Given the description of an element on the screen output the (x, y) to click on. 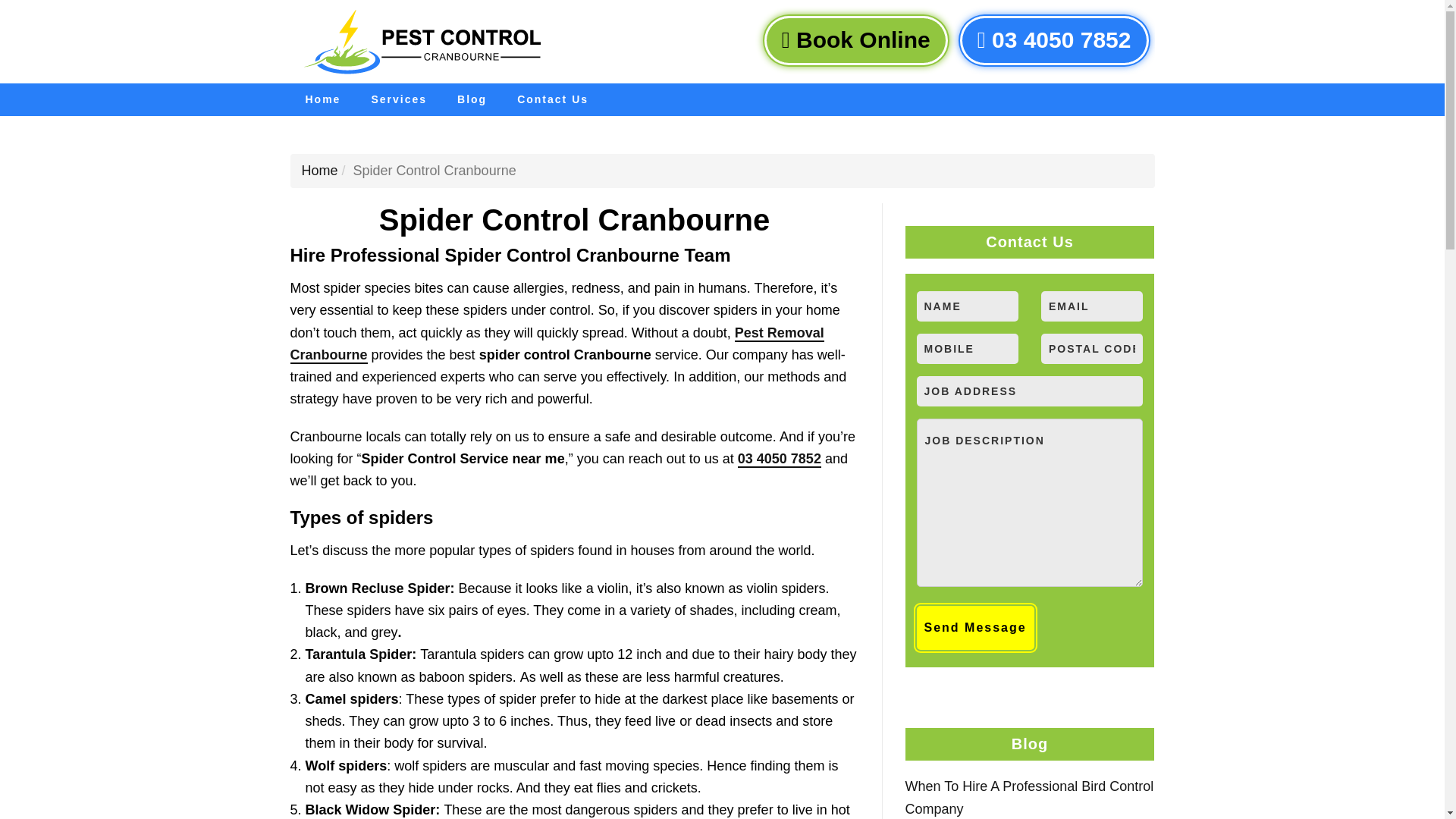
03 4050 7852 (1053, 40)
Services (398, 99)
Send Message (974, 628)
Book Online (855, 40)
Home (322, 99)
